Given the description of an element on the screen output the (x, y) to click on. 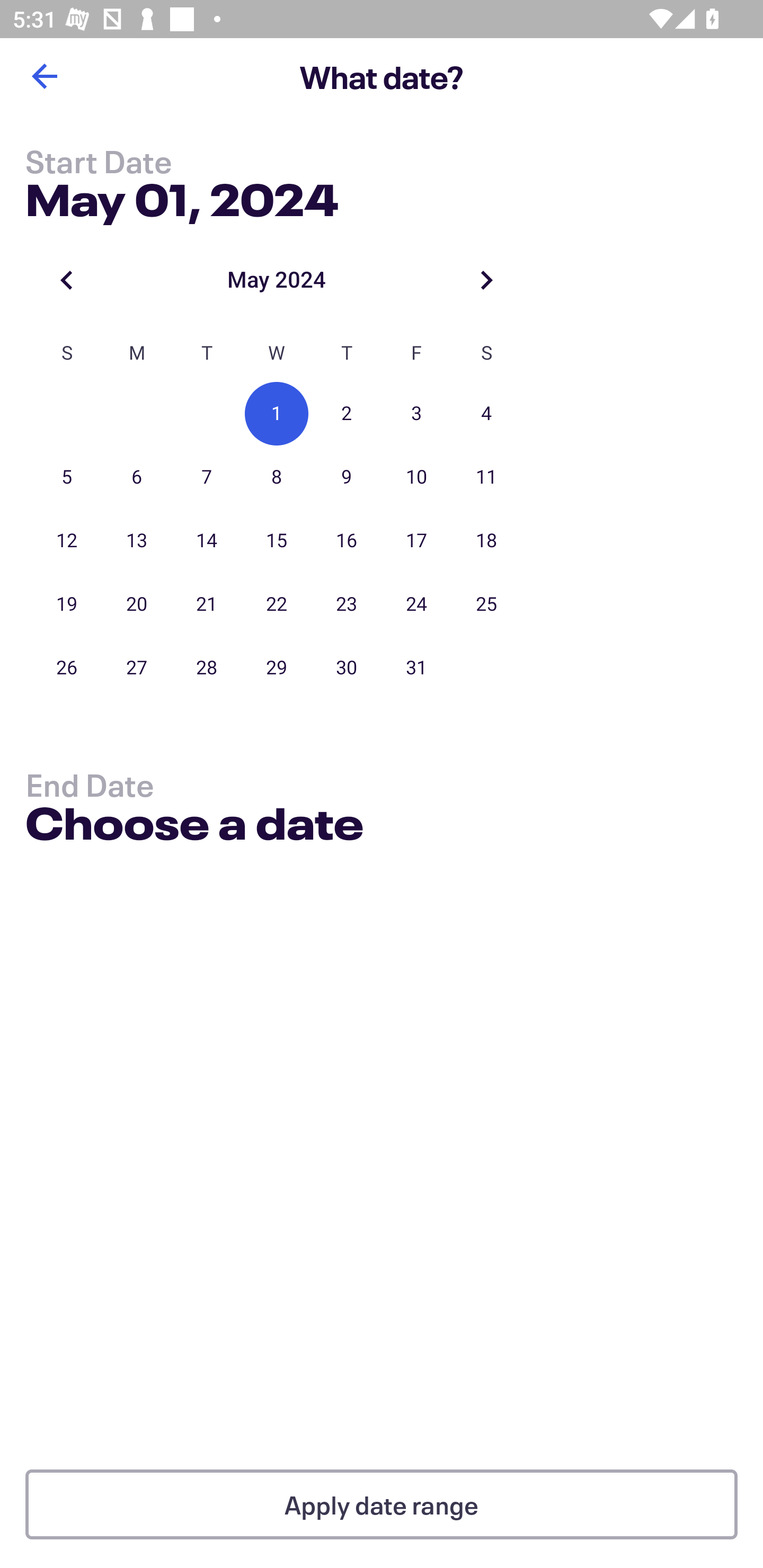
Back button (44, 75)
May 01, 2024 (181, 195)
Previous month (66, 279)
Next month (486, 279)
1 01 May 2024 (276, 413)
2 02 May 2024 (346, 413)
3 03 May 2024 (416, 413)
4 04 May 2024 (486, 413)
5 05 May 2024 (66, 477)
6 06 May 2024 (136, 477)
7 07 May 2024 (206, 477)
8 08 May 2024 (276, 477)
9 09 May 2024 (346, 477)
10 10 May 2024 (416, 477)
11 11 May 2024 (486, 477)
12 12 May 2024 (66, 540)
13 13 May 2024 (136, 540)
14 14 May 2024 (206, 540)
15 15 May 2024 (276, 540)
16 16 May 2024 (346, 540)
17 17 May 2024 (416, 540)
18 18 May 2024 (486, 540)
19 19 May 2024 (66, 604)
20 20 May 2024 (136, 604)
21 21 May 2024 (206, 604)
22 22 May 2024 (276, 604)
23 23 May 2024 (346, 604)
24 24 May 2024 (416, 604)
25 25 May 2024 (486, 604)
26 26 May 2024 (66, 667)
27 27 May 2024 (136, 667)
28 28 May 2024 (206, 667)
29 29 May 2024 (276, 667)
30 30 May 2024 (346, 667)
31 31 May 2024 (416, 667)
Choose a date (194, 826)
Apply date range (381, 1504)
